Given the description of an element on the screen output the (x, y) to click on. 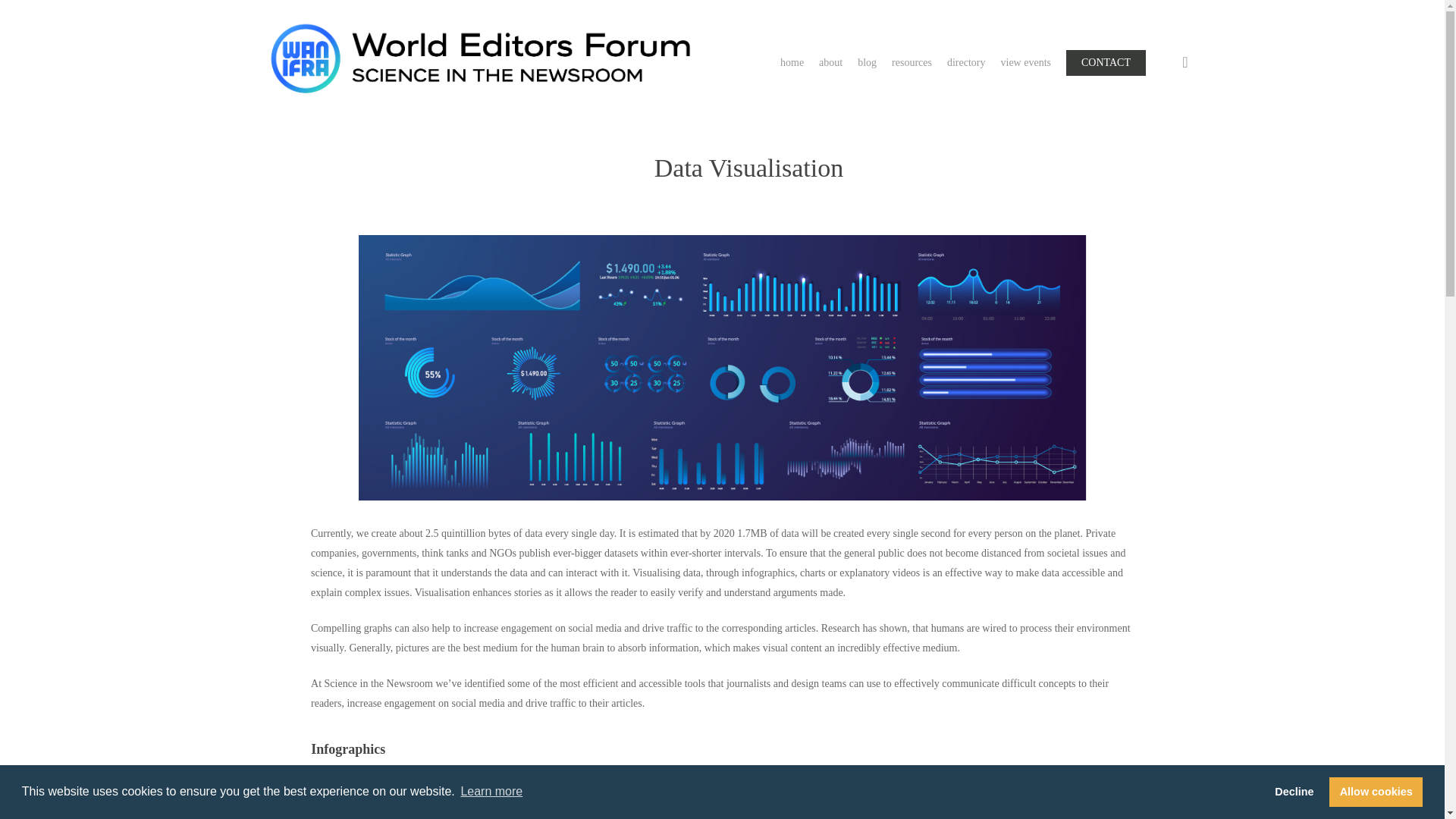
Decline (1294, 791)
blog (866, 61)
search (1184, 62)
Allow cookies (1375, 791)
resources (911, 61)
CONTACT (1105, 61)
view events (1026, 61)
about (830, 61)
Learn more (491, 791)
directory (966, 61)
home (791, 61)
